Given the description of an element on the screen output the (x, y) to click on. 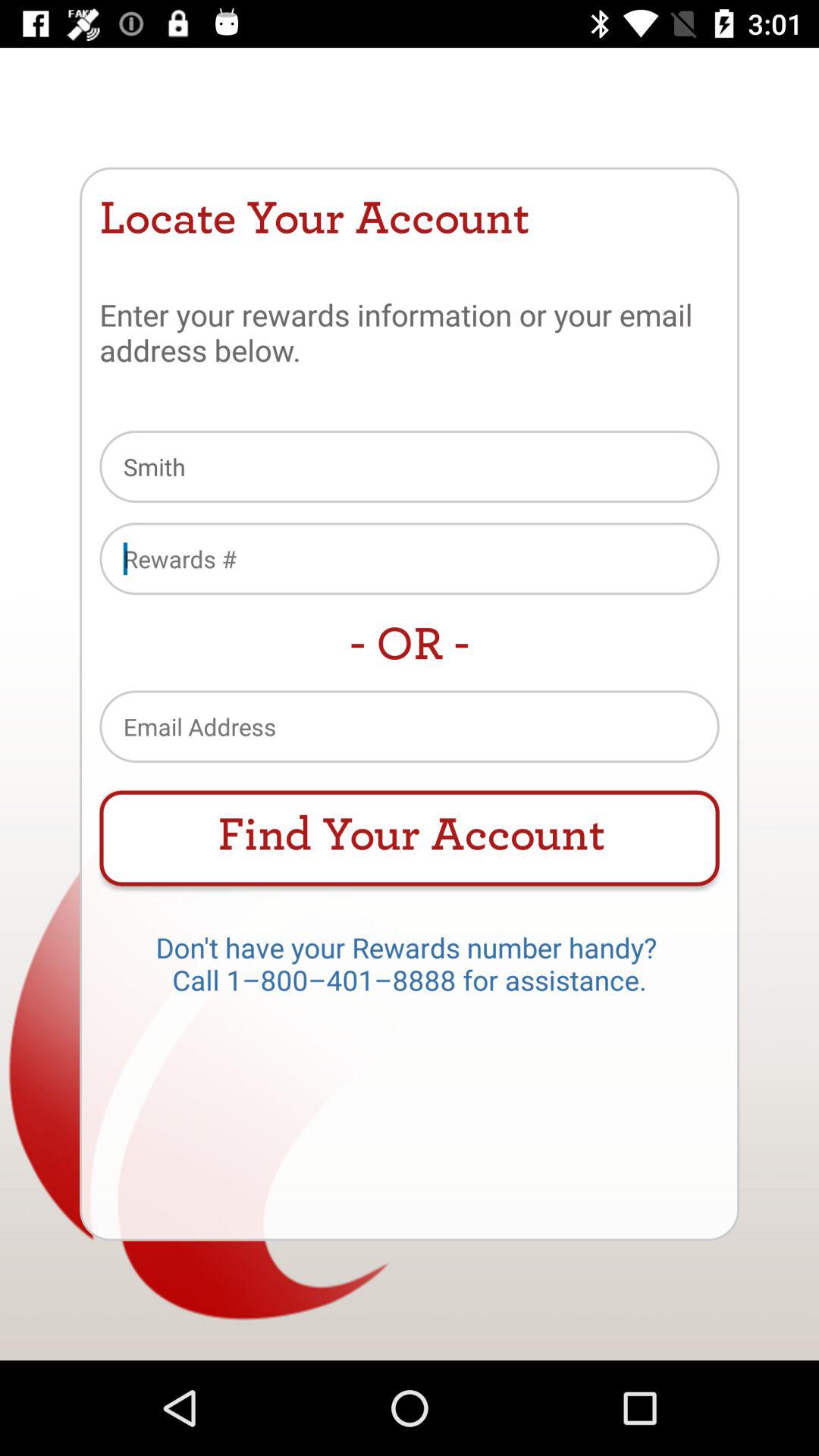
rewards option (409, 558)
